Given the description of an element on the screen output the (x, y) to click on. 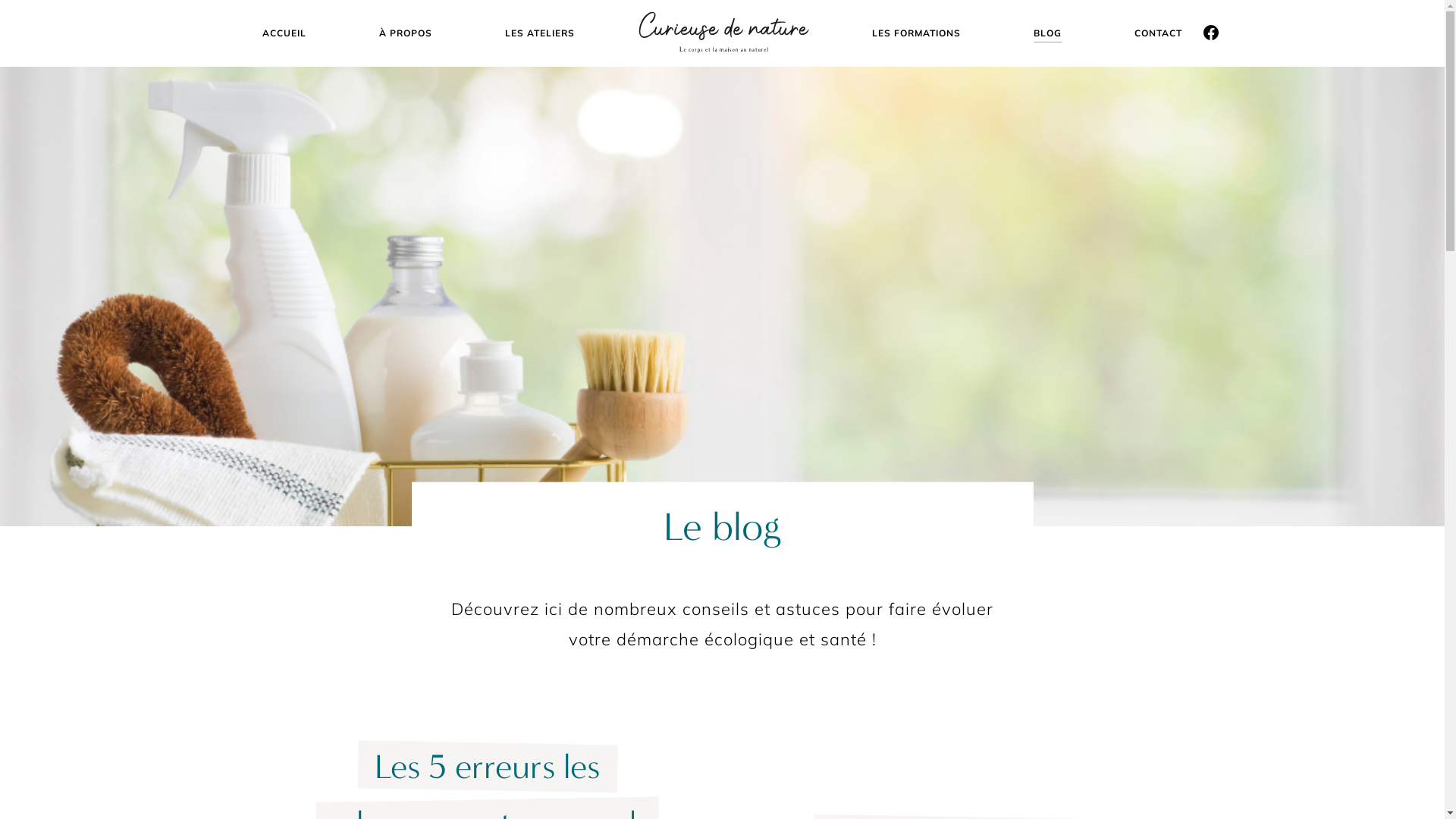
BLOG Element type: text (1047, 33)
ACCUEIL Element type: text (283, 33)
CURIEUSE DE NATURE Element type: text (723, 33)
LES ATELIERS Element type: text (538, 33)
LES FORMATIONS Element type: text (916, 33)
CONTACT Element type: text (1158, 33)
FACEBOOK Element type: text (1210, 33)
